Given the description of an element on the screen output the (x, y) to click on. 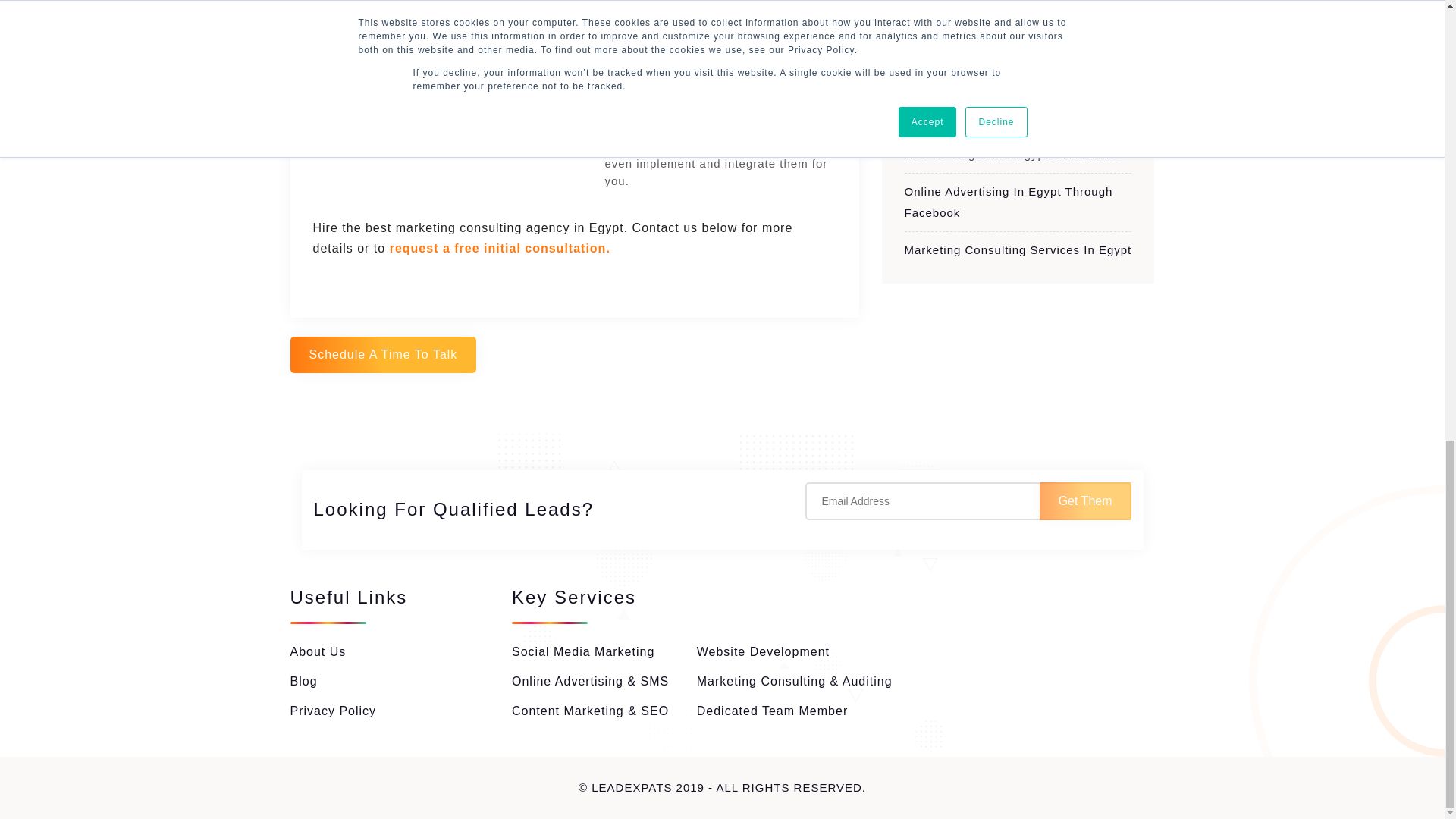
Marketing Consulting Services In Egypt (1017, 249)
Schedule A Time To Talk (382, 354)
Privacy Policy (332, 710)
Social Media Marketing (582, 651)
Dedicated Team Member (772, 710)
Social Media Marketing In Egypt (997, 115)
How To Target The Egyptian Audience (1013, 154)
Get Them (1085, 501)
Online Advertising In Egypt Through Facebook (1008, 201)
request a free initial consultation. (500, 247)
About Us (317, 651)
Get Them (1085, 501)
Website Development (763, 651)
Blog (303, 680)
